Given the description of an element on the screen output the (x, y) to click on. 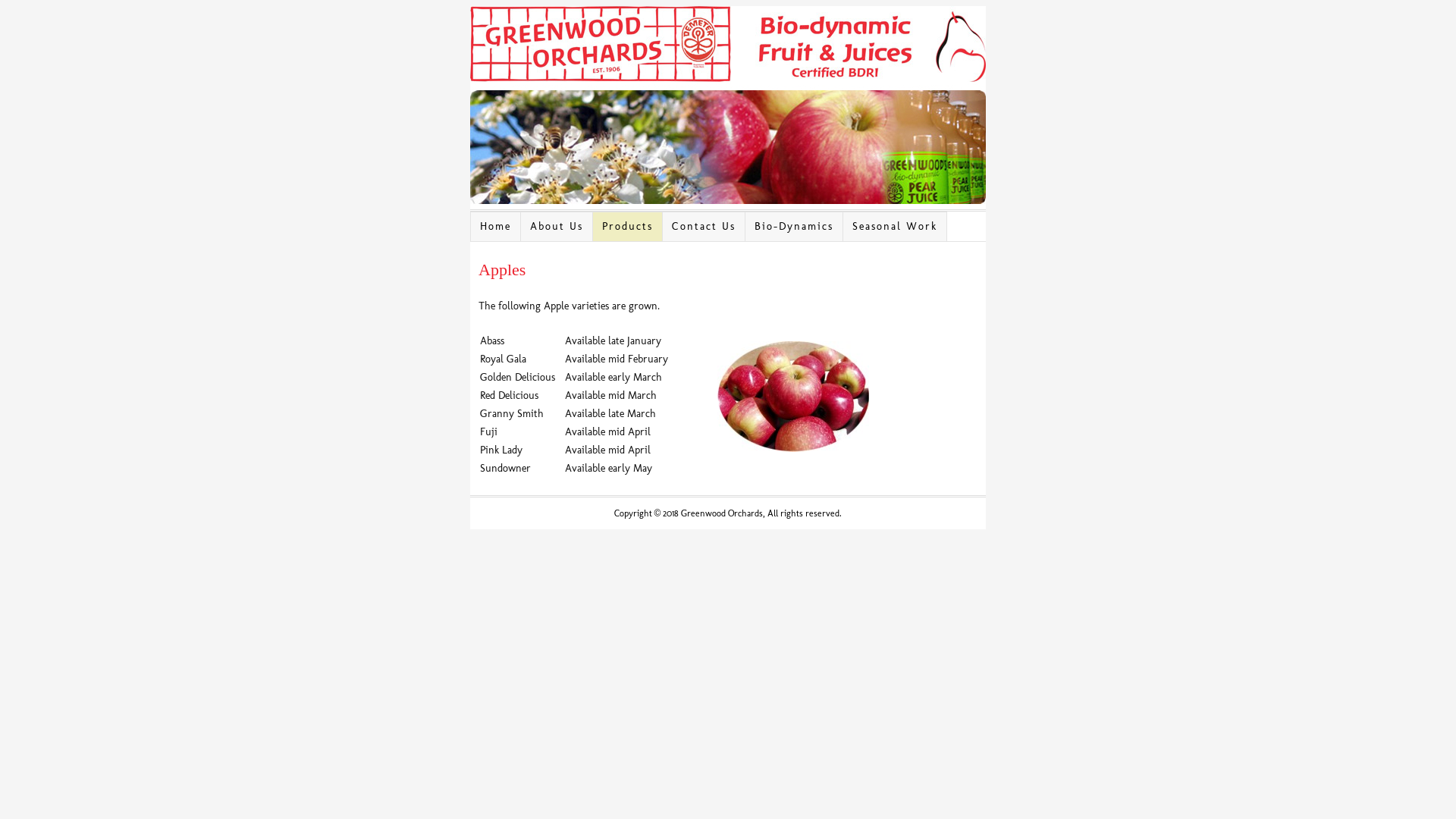
About Us Element type: text (556, 226)
Bio-Dynamics Element type: text (794, 226)
Contact Us Element type: text (703, 226)
Products Element type: text (627, 226)
Seasonal Work Element type: text (895, 226)
Home Element type: text (495, 226)
